Given the description of an element on the screen output the (x, y) to click on. 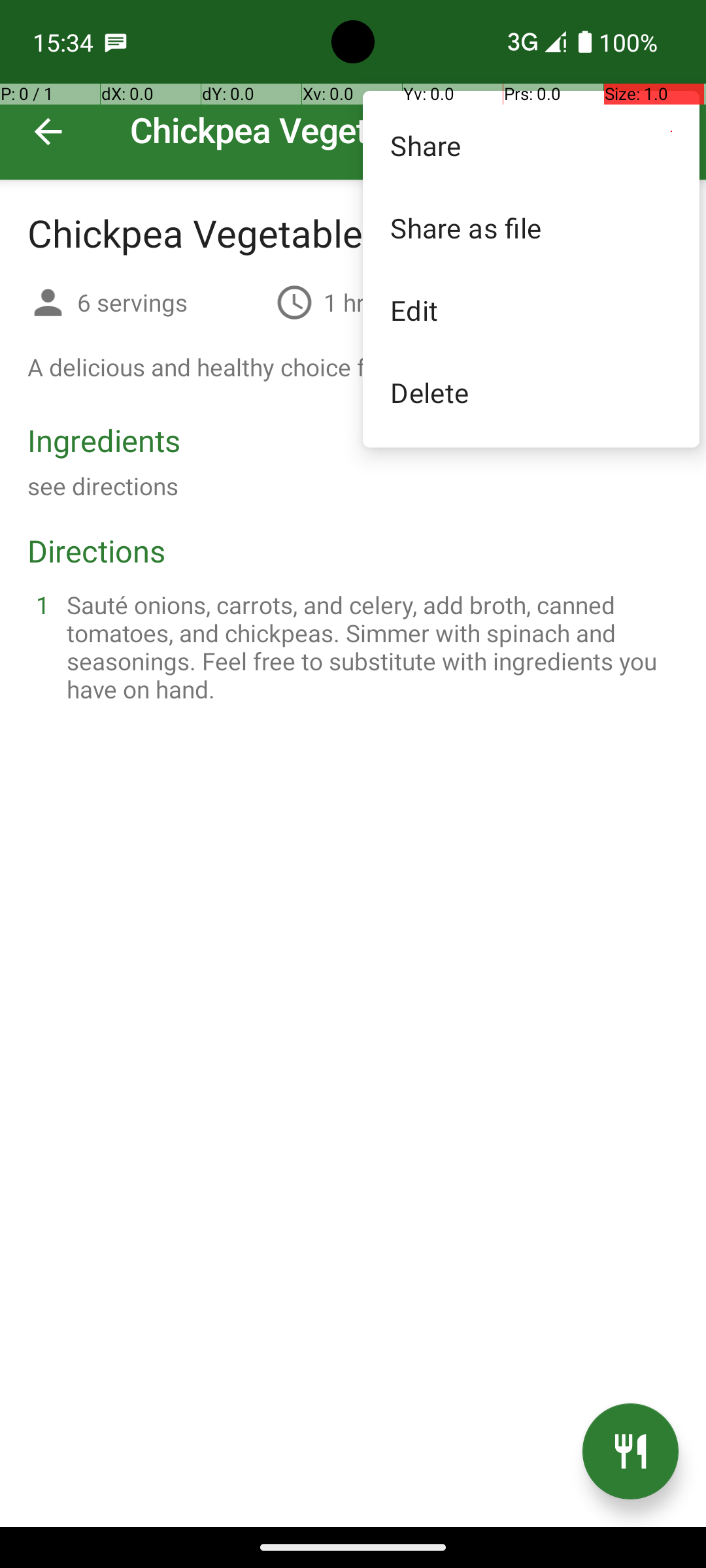
Share as file Element type: android.widget.TextView (531, 227)
